Given the description of an element on the screen output the (x, y) to click on. 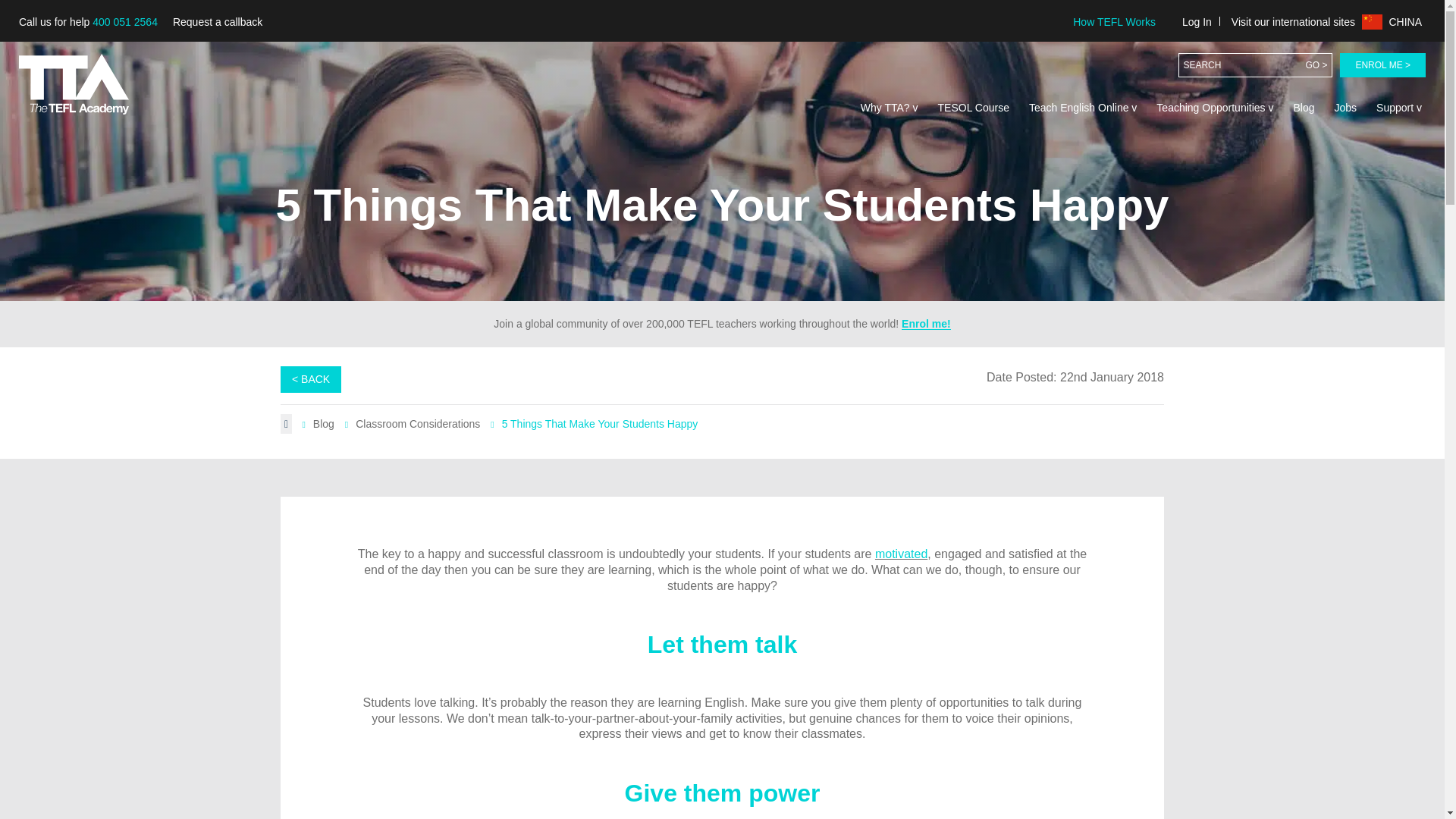
Log In (1196, 20)
Request a callback (217, 22)
Why TTA? v (889, 107)
Log In (1196, 20)
How TEFL Works (1113, 20)
How TEFL Works (1113, 20)
Teaching Opportunities v (1214, 107)
Visit our international sites CHINA (1326, 20)
Teach English Online v (1082, 107)
400 051 2564 (125, 21)
Why TTA? (889, 107)
TESOL Course (973, 107)
Request a callback (217, 22)
